Given the description of an element on the screen output the (x, y) to click on. 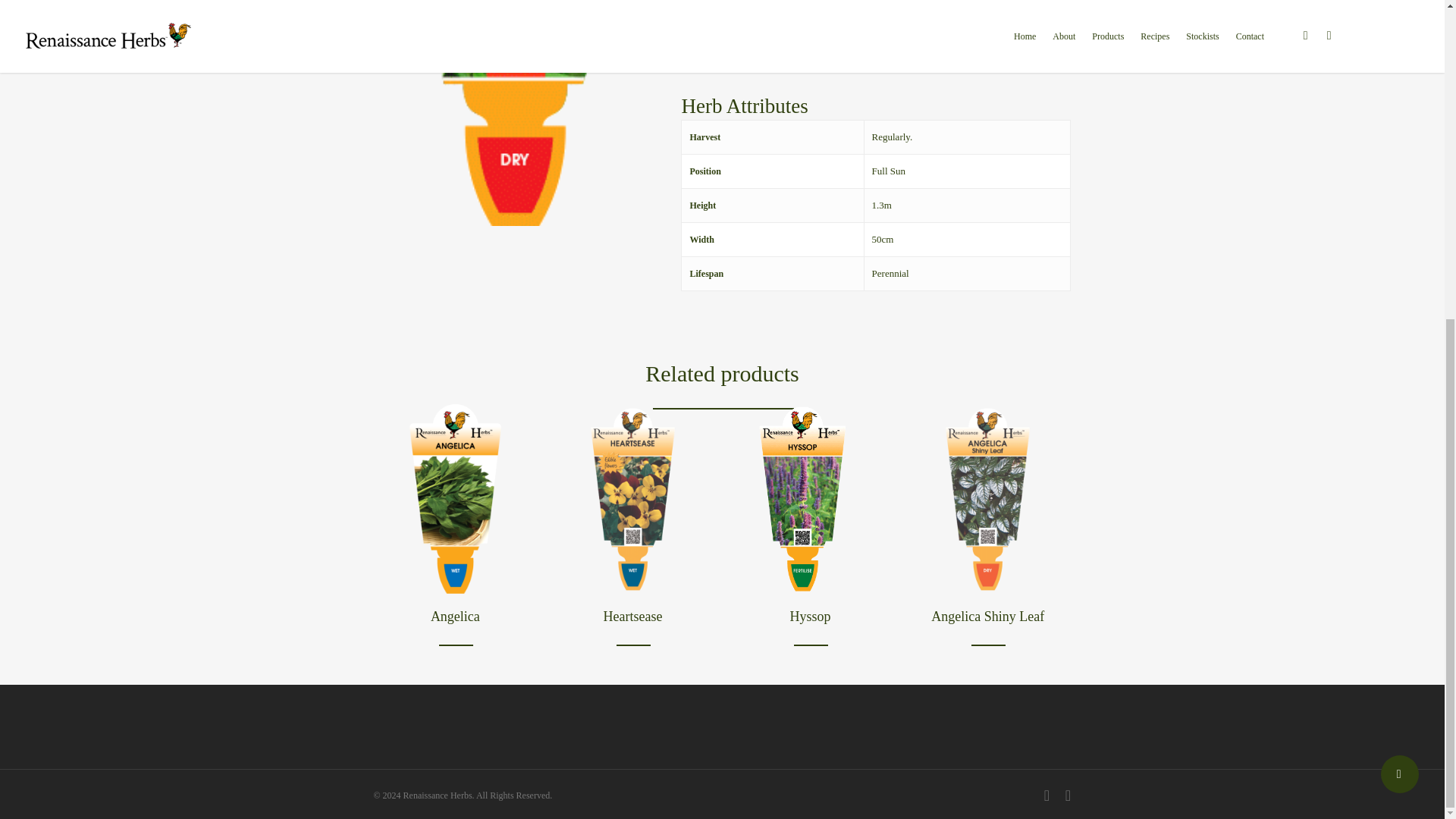
artmeisia (514, 113)
